Given the description of an element on the screen output the (x, y) to click on. 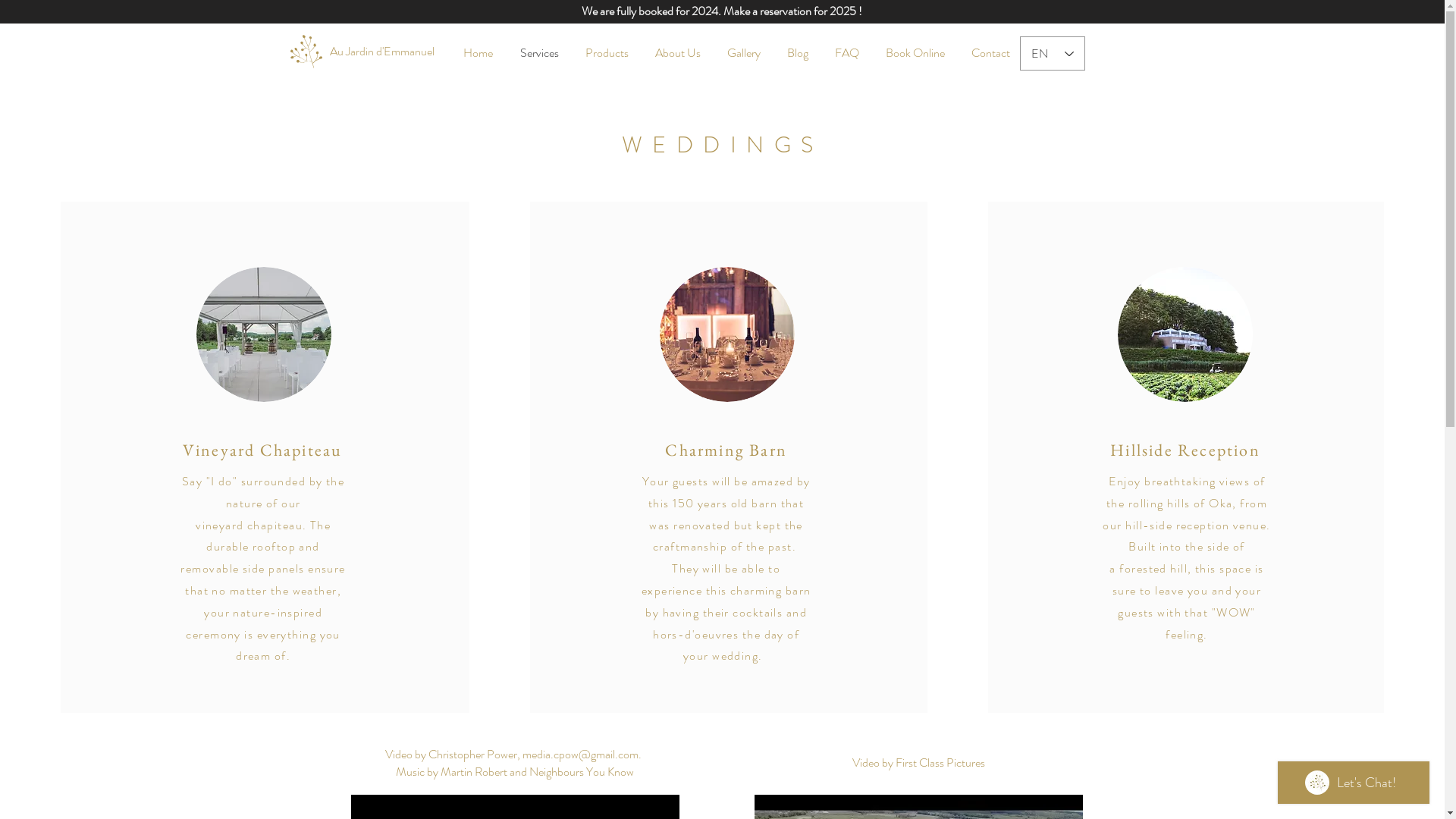
media.cpow@gmail.com Element type: text (580, 753)
Book Online Element type: text (914, 53)
Au Jardin d'Emmanuel Element type: text (380, 51)
Gallery Element type: text (744, 53)
Blog Element type: text (797, 53)
Log In Element type: text (601, 51)
FAQ Element type: text (847, 53)
Home Element type: text (476, 53)
About Us Element type: text (677, 53)
Contact Element type: text (990, 53)
Services Element type: text (539, 53)
Products Element type: text (606, 53)
